Given the description of an element on the screen output the (x, y) to click on. 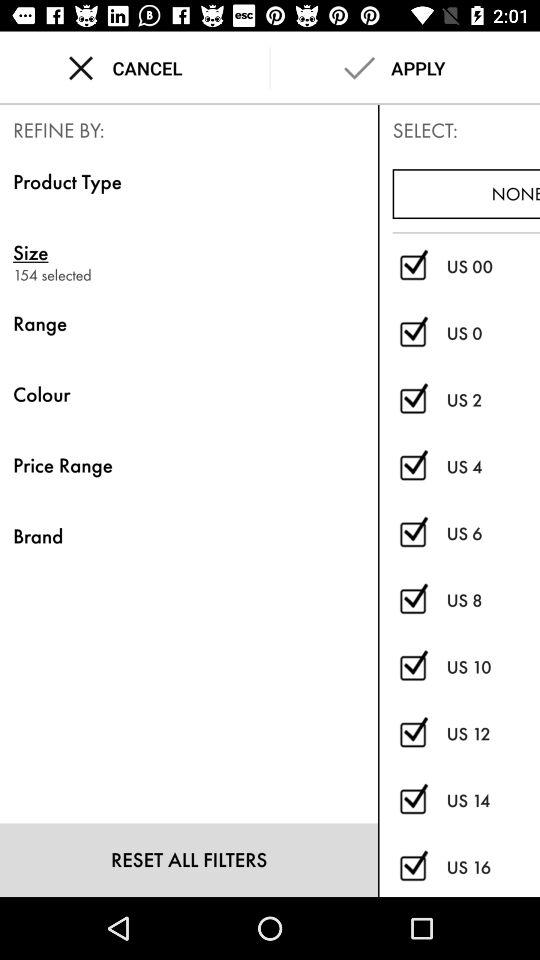
uncheck the box (412, 800)
